Given the description of an element on the screen output the (x, y) to click on. 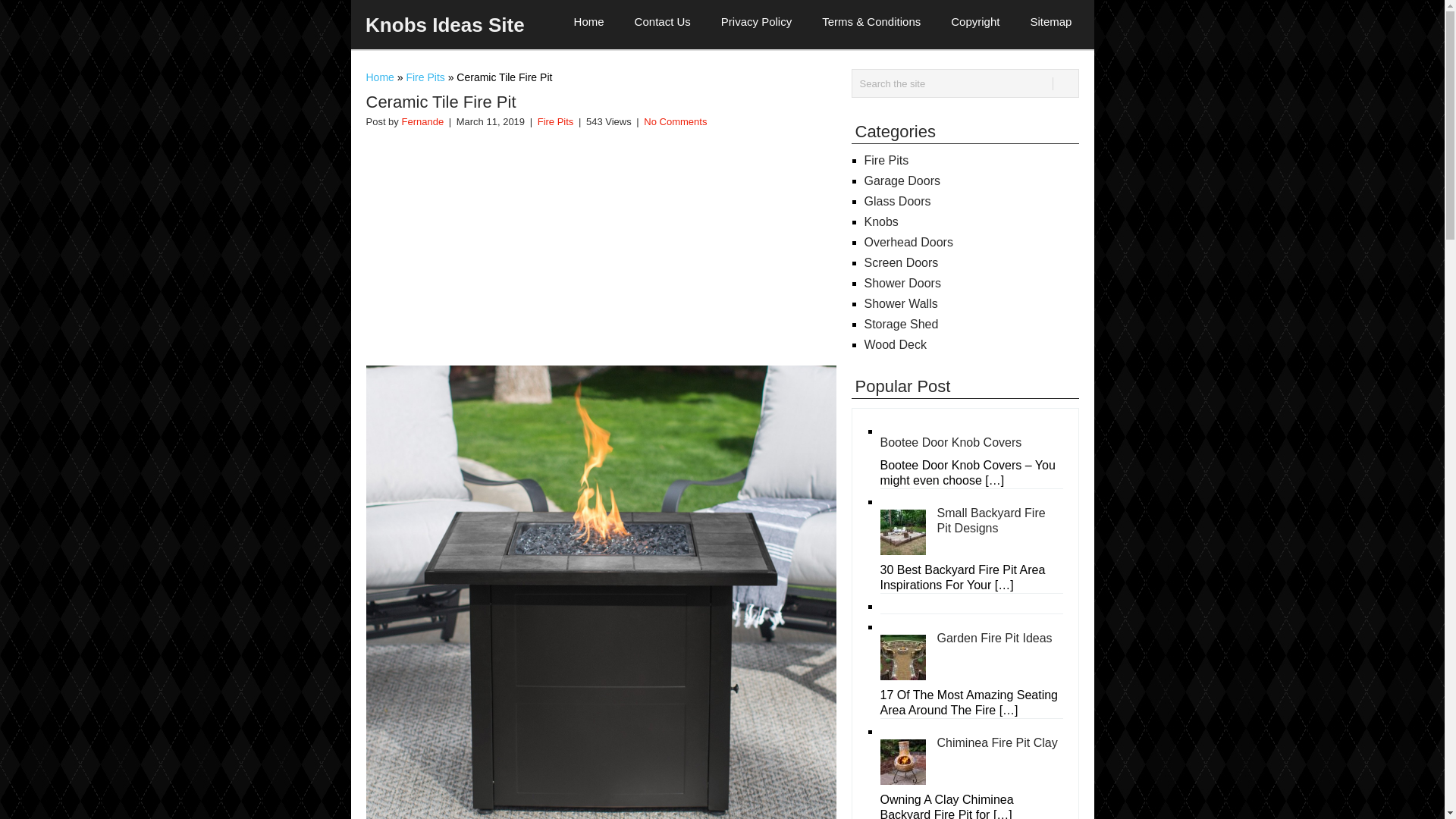
Knobs Ideas Site (444, 25)
Fire Pits (886, 160)
Posts by Fernande (422, 121)
Search (1064, 83)
Advertisement (600, 244)
Search the site (964, 82)
Fire Pits (555, 121)
Home (596, 18)
No Comments (674, 121)
Contact Us (670, 18)
Fernande (422, 121)
Copyright (982, 18)
Search (1064, 83)
Fire Pits (425, 77)
